Given the description of an element on the screen output the (x, y) to click on. 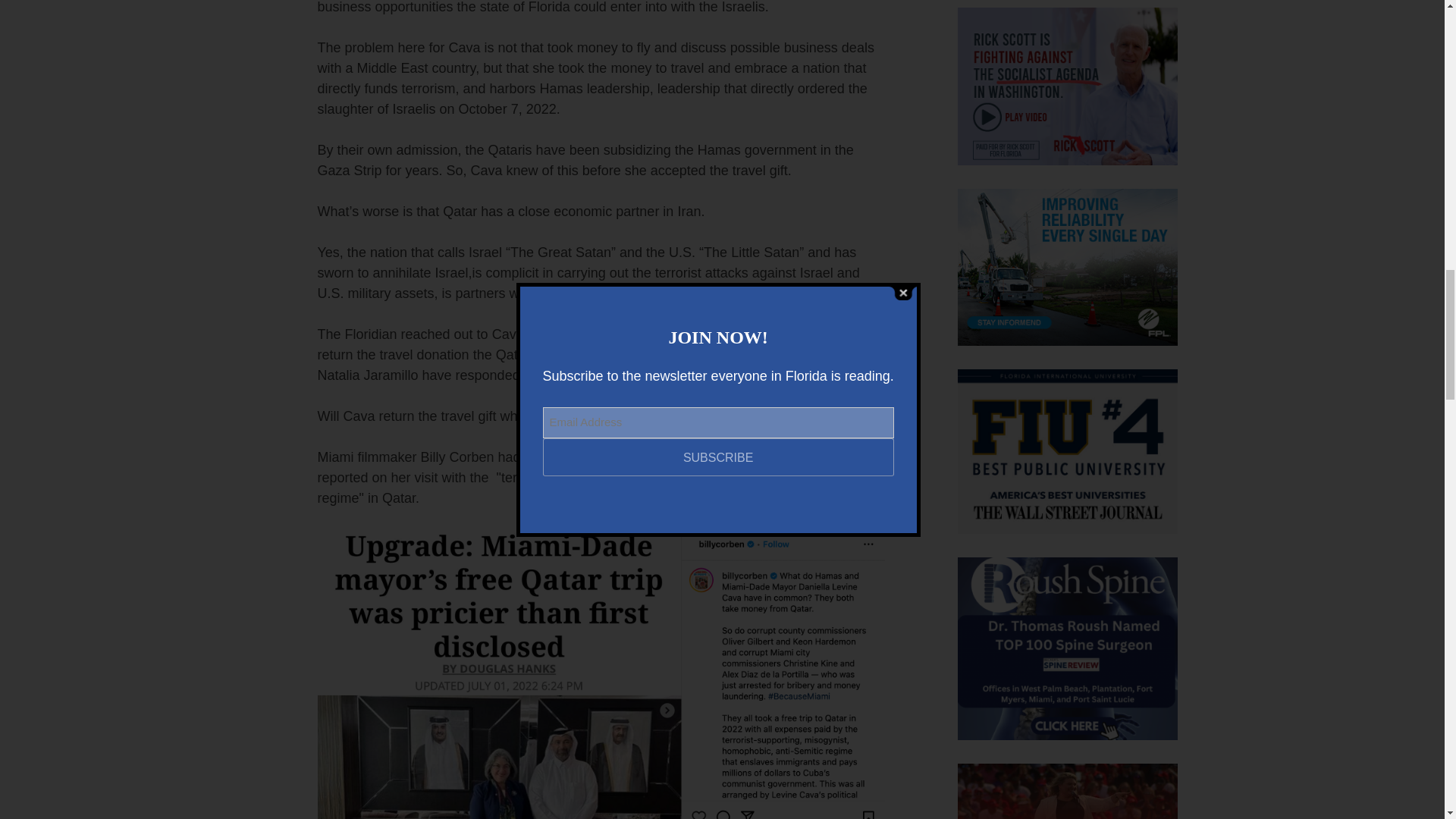
Partnering To Reduce Recidivism (1066, 791)
